Given the description of an element on the screen output the (x, y) to click on. 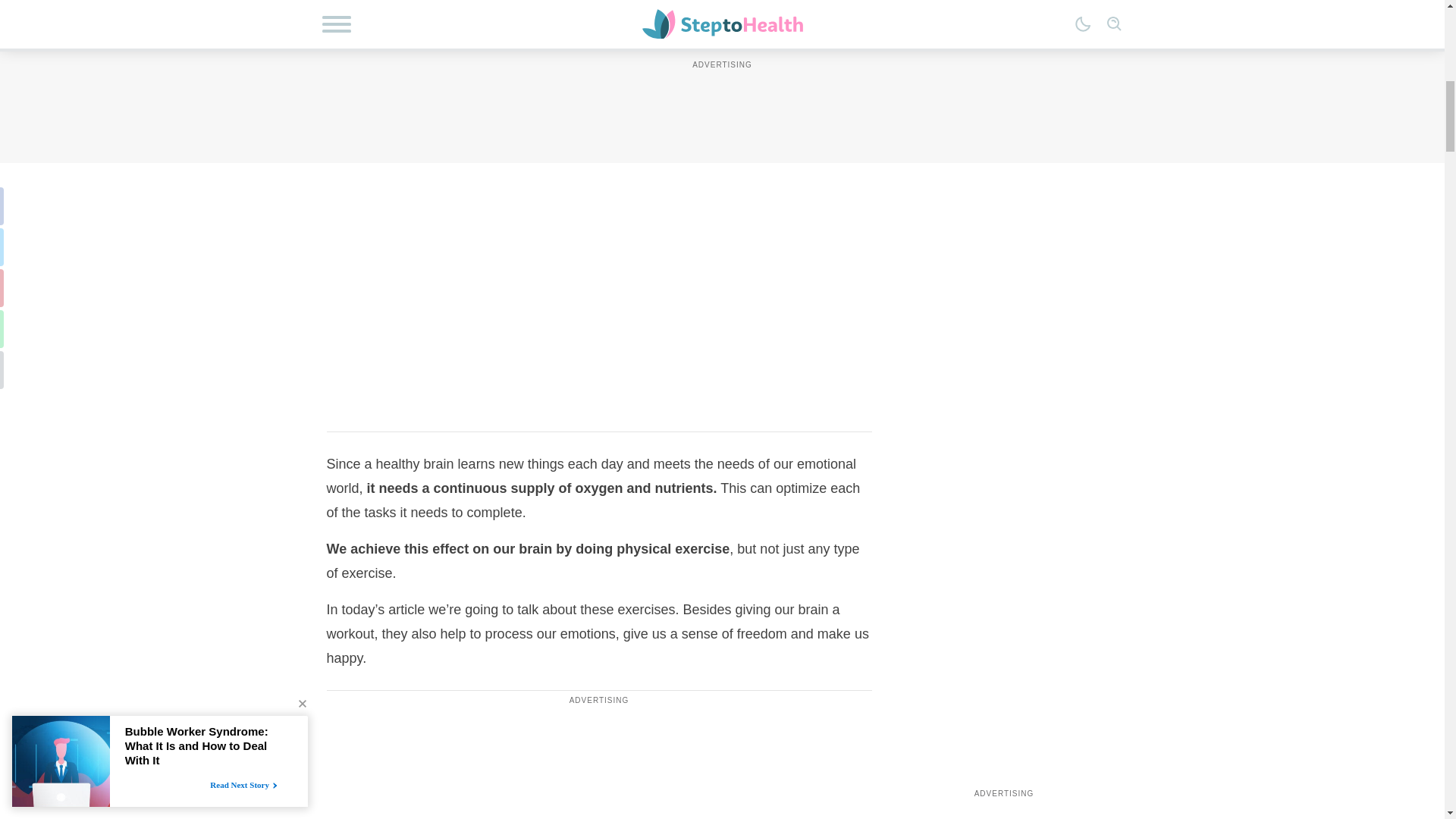
negative emotions (587, 56)
3rd party ad content (598, 248)
